Given the description of an element on the screen output the (x, y) to click on. 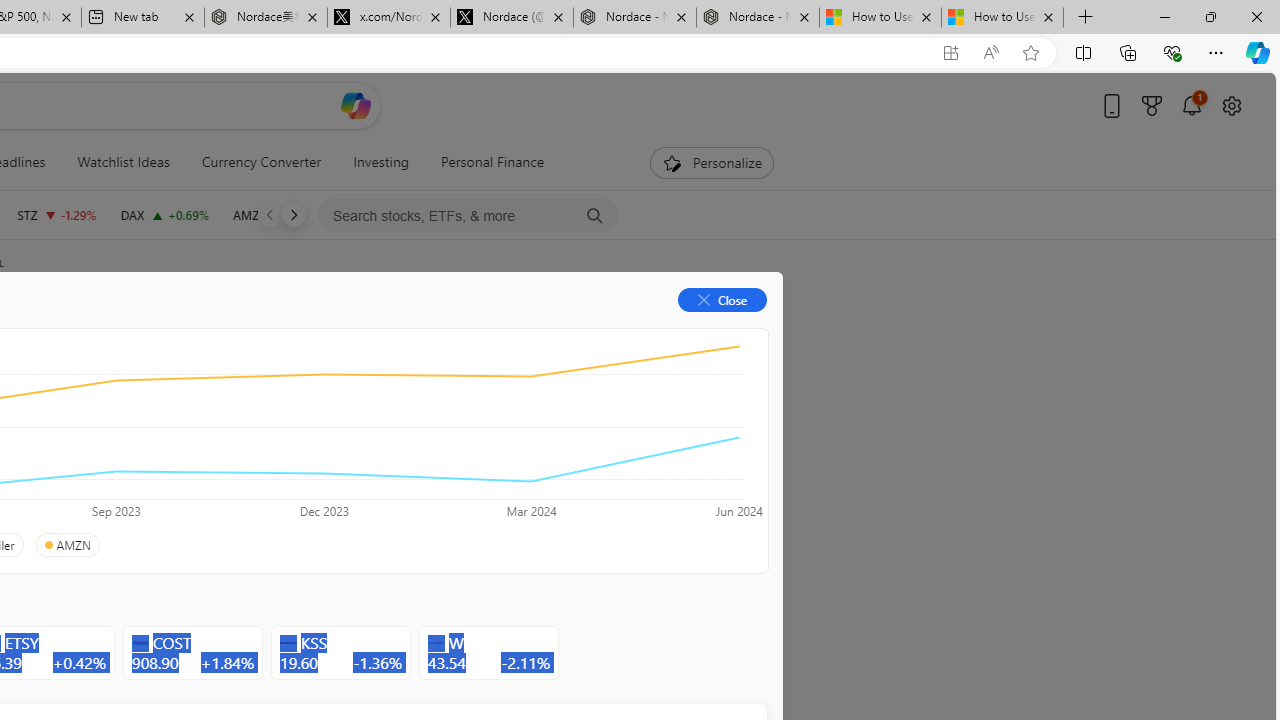
Microsoft rewards (1151, 105)
Personal Finance (484, 162)
Leverage & Liquidity (95, 445)
Next (293, 214)
Class: text-DS-EntryPoint1-3 (281, 446)
Search stocks, ETFs, & more (468, 215)
Class: autoSuggestIcon-DS-EntryPoint1-2 (436, 643)
